Given the description of an element on the screen output the (x, y) to click on. 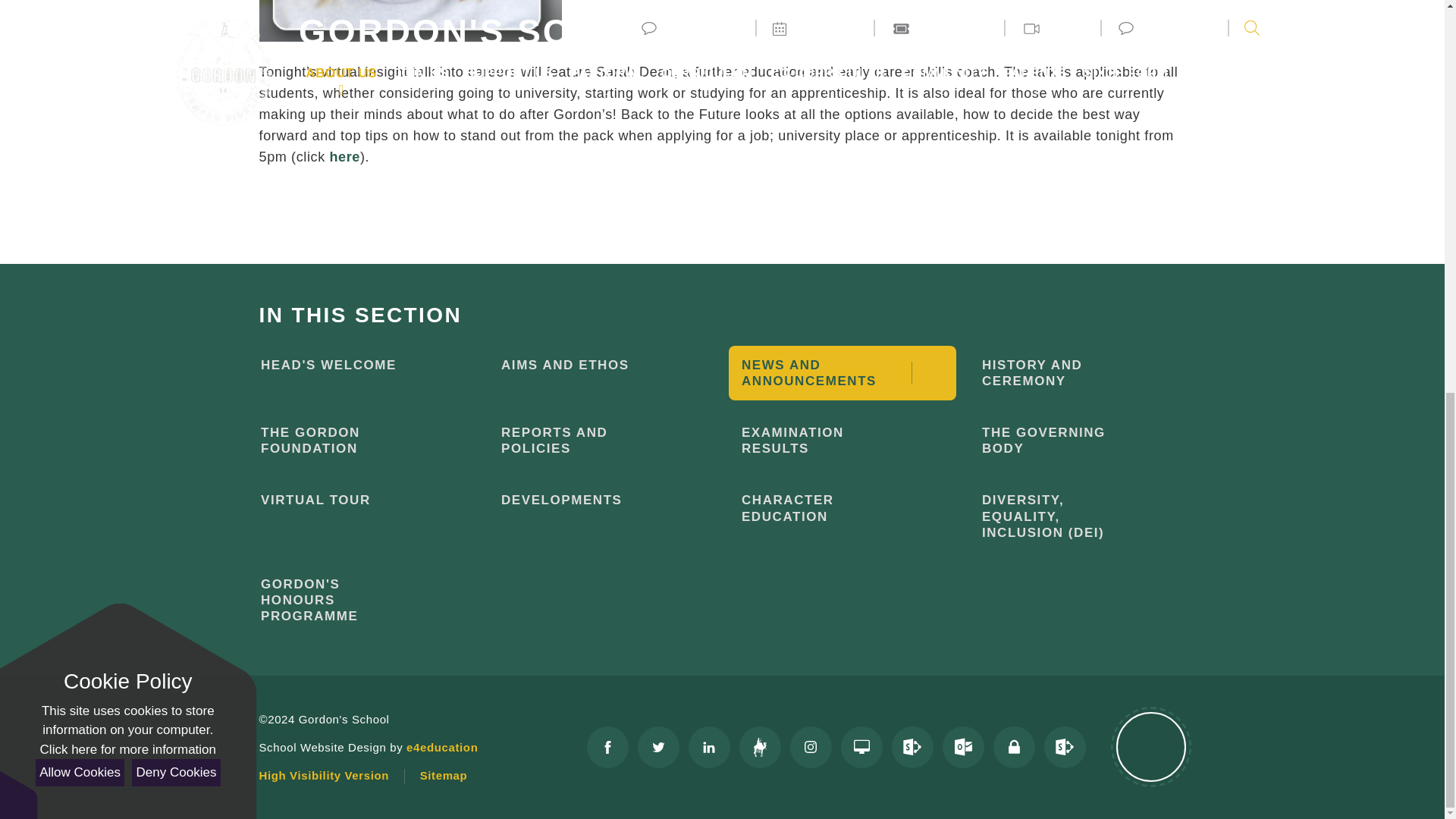
See cookie policy (127, 2)
Allow Cookies (78, 17)
Deny Cookies (175, 17)
